Given the description of an element on the screen output the (x, y) to click on. 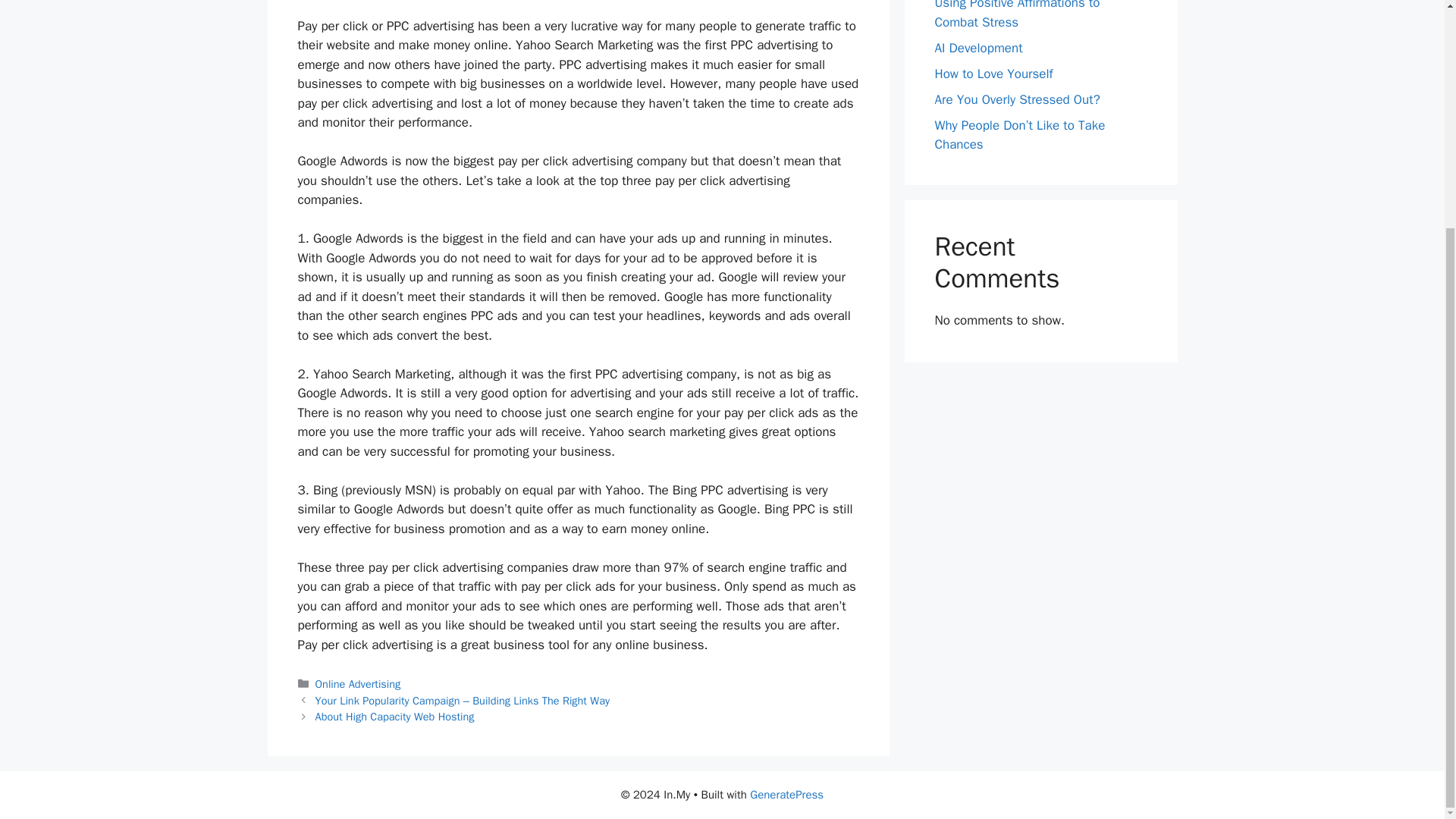
How to Love Yourself (993, 73)
AI Development (978, 47)
About High Capacity Web Hosting (394, 716)
GeneratePress (786, 794)
Online Advertising (358, 684)
Are You Overly Stressed Out? (1016, 98)
Using Positive Affirmations to Combat Stress (1016, 15)
